Given the description of an element on the screen output the (x, y) to click on. 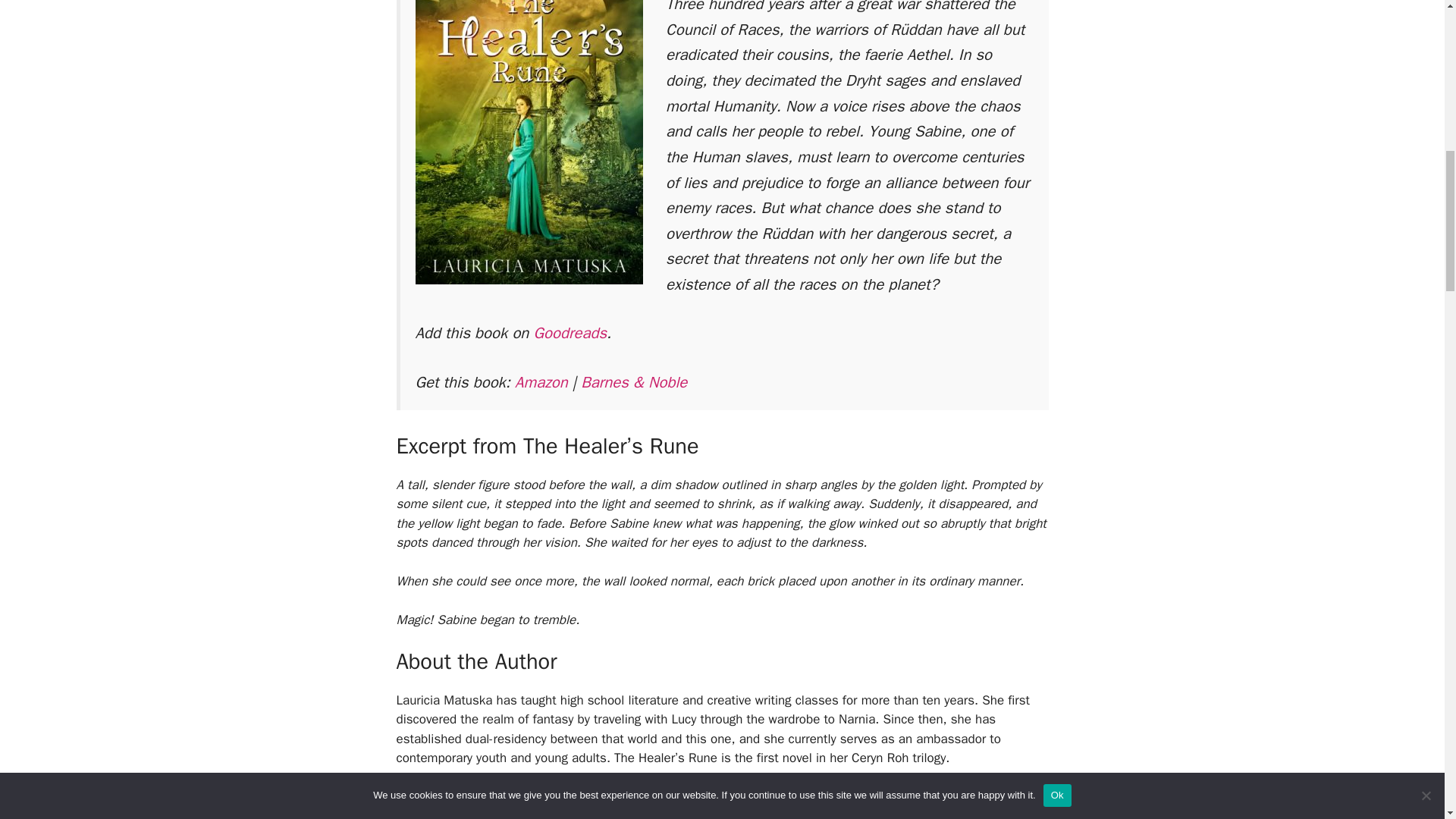
Facebook (670, 796)
Twitter (612, 796)
Scroll back to top (1406, 720)
Goodreads (569, 332)
Pinterest (732, 796)
Amazon (541, 382)
Website (560, 796)
